Given the description of an element on the screen output the (x, y) to click on. 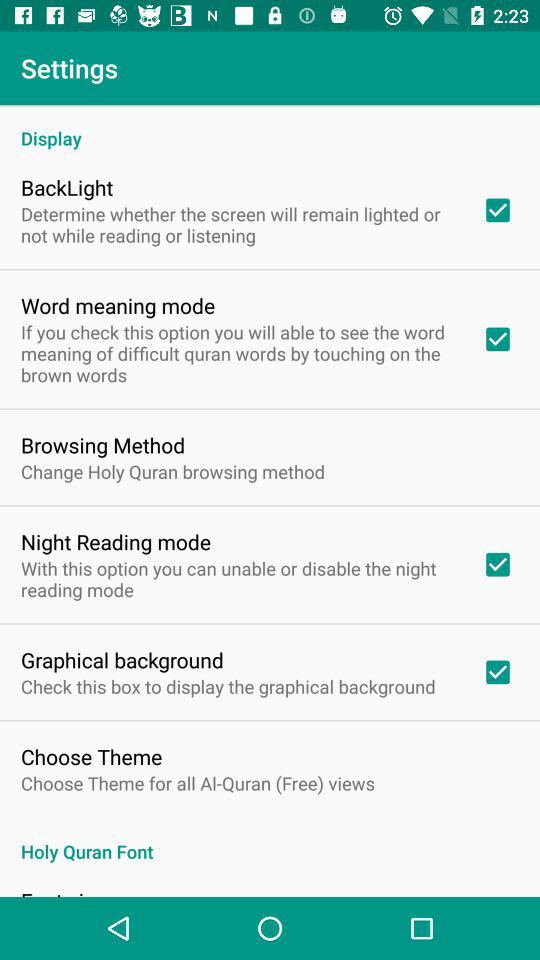
turn off item below the word meaning mode icon (238, 353)
